Given the description of an element on the screen output the (x, y) to click on. 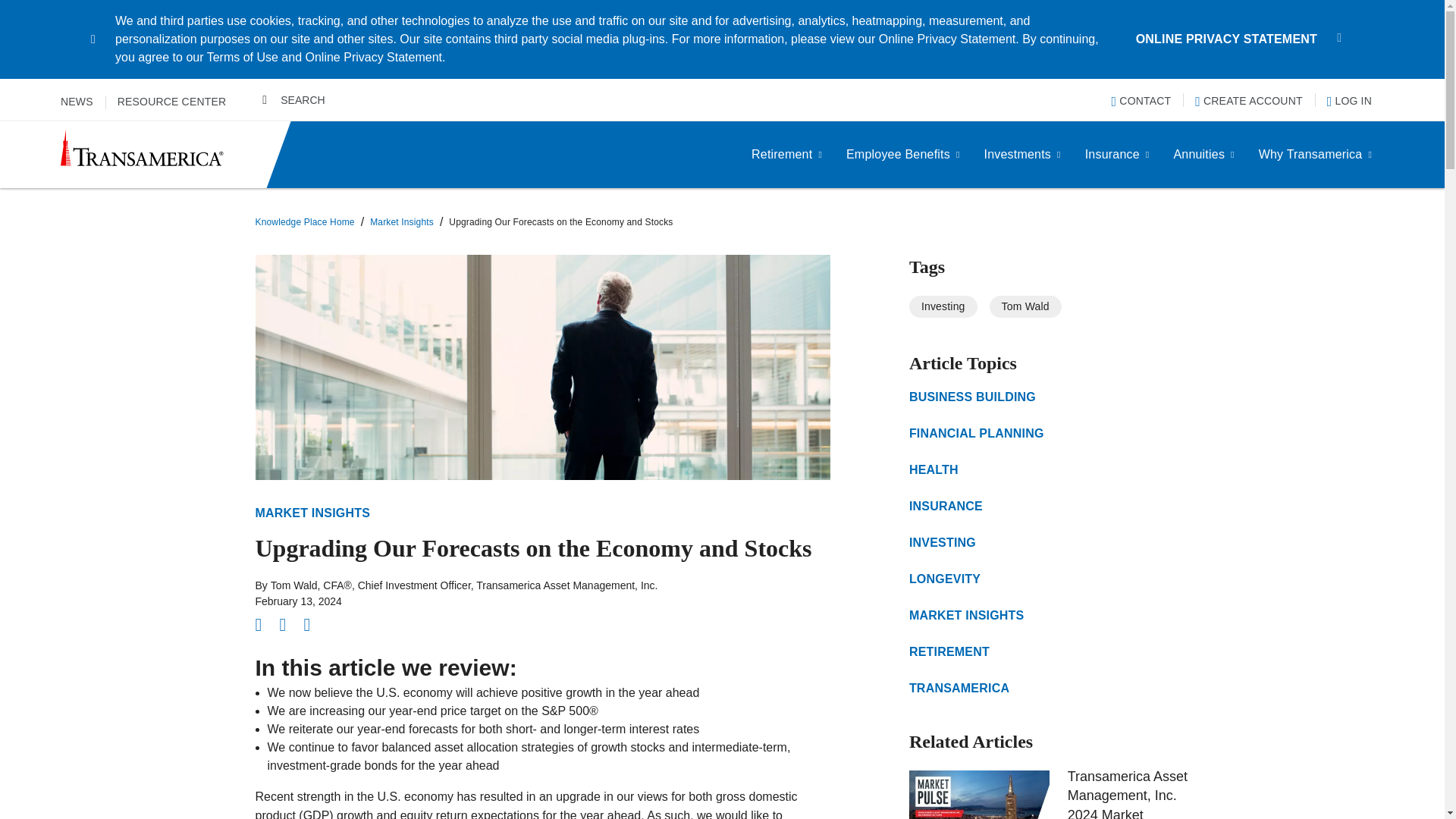
RESOURCE CENTER (172, 101)
Retirement (786, 154)
Investments (1022, 154)
CONTACT (1142, 101)
CREATE ACCOUNT (1248, 101)
LOG IN (1348, 101)
Employee Benefits (903, 154)
ONLINE PRIVACY STATEMENT (1226, 39)
NEWS (77, 101)
